Given the description of an element on the screen output the (x, y) to click on. 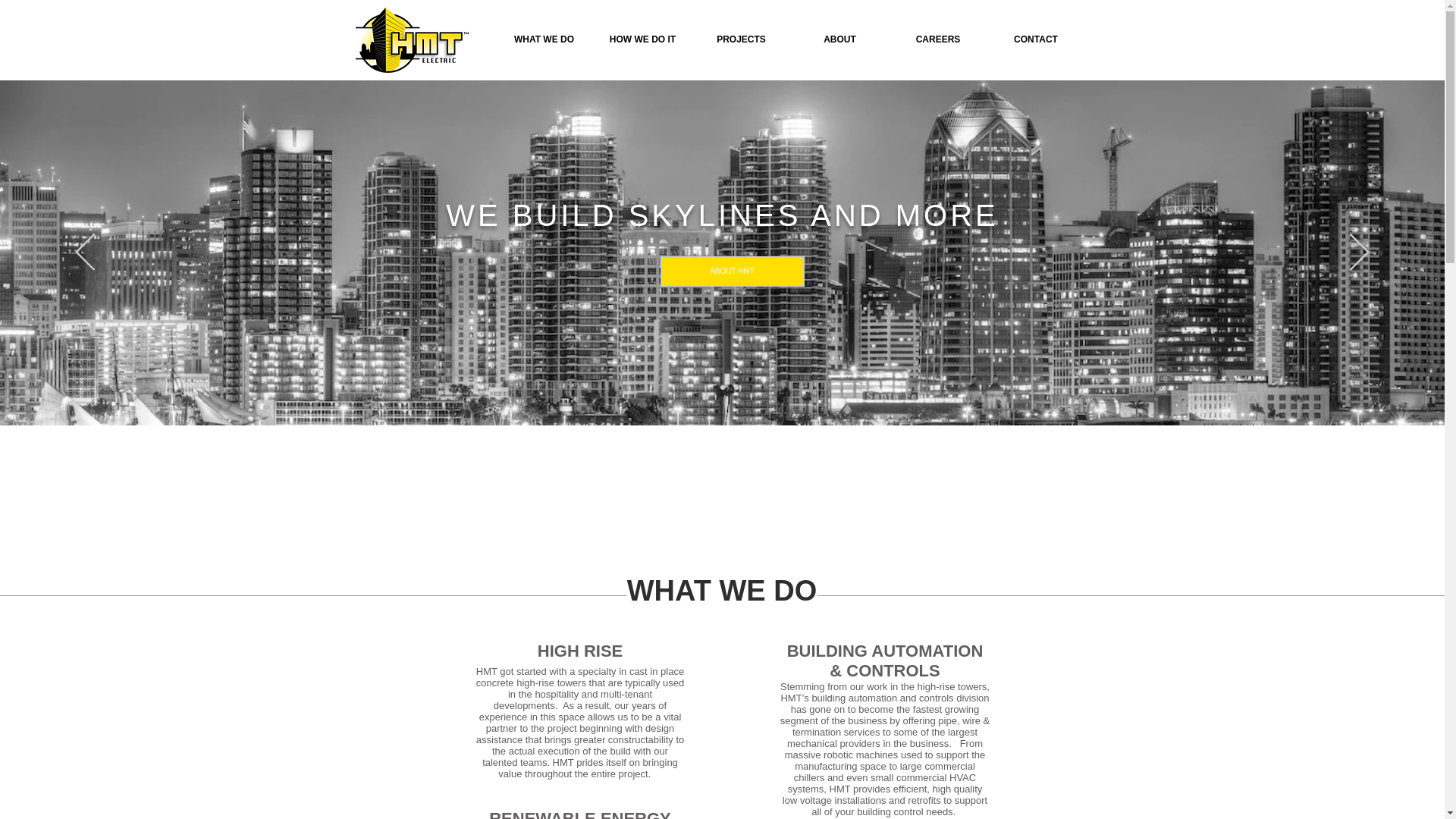
HOW WE DO IT (641, 39)
WHAT WE DO (543, 39)
CONTACT (1035, 39)
ABOUT (839, 39)
PROJECTS (740, 39)
ABOUT HMT (731, 271)
CAREERS (937, 39)
